Given the description of an element on the screen output the (x, y) to click on. 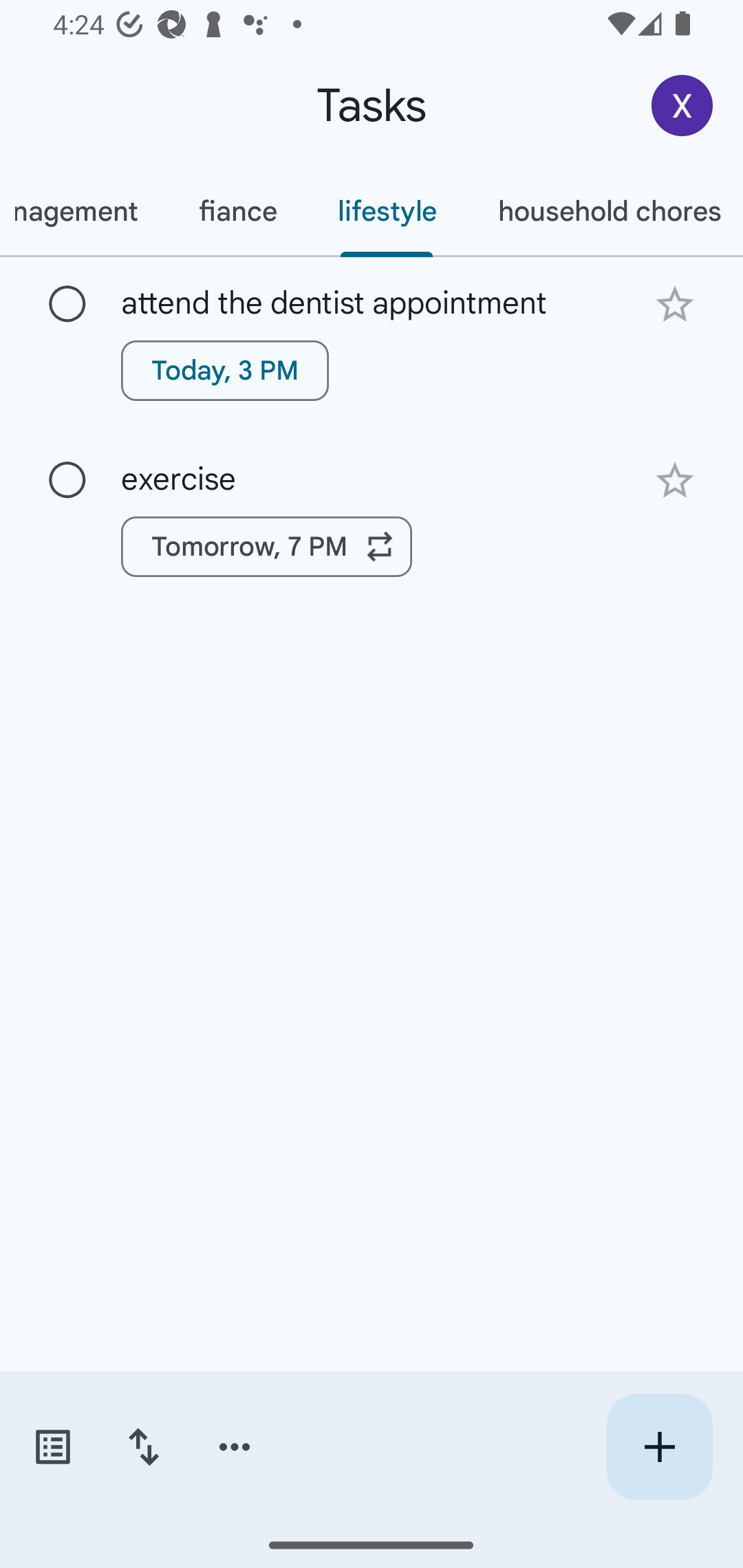
home management (83, 211)
fiance (236, 211)
household chores (605, 211)
Add star (674, 303)
Mark as complete (67, 304)
Today, 3 PM (225, 369)
Add star (674, 480)
Mark as complete (67, 480)
Tomorrow, 7 PM (266, 546)
Switch task lists (52, 1447)
Create new task (659, 1446)
Change sort order (143, 1446)
More options (234, 1446)
